Given the description of an element on the screen output the (x, y) to click on. 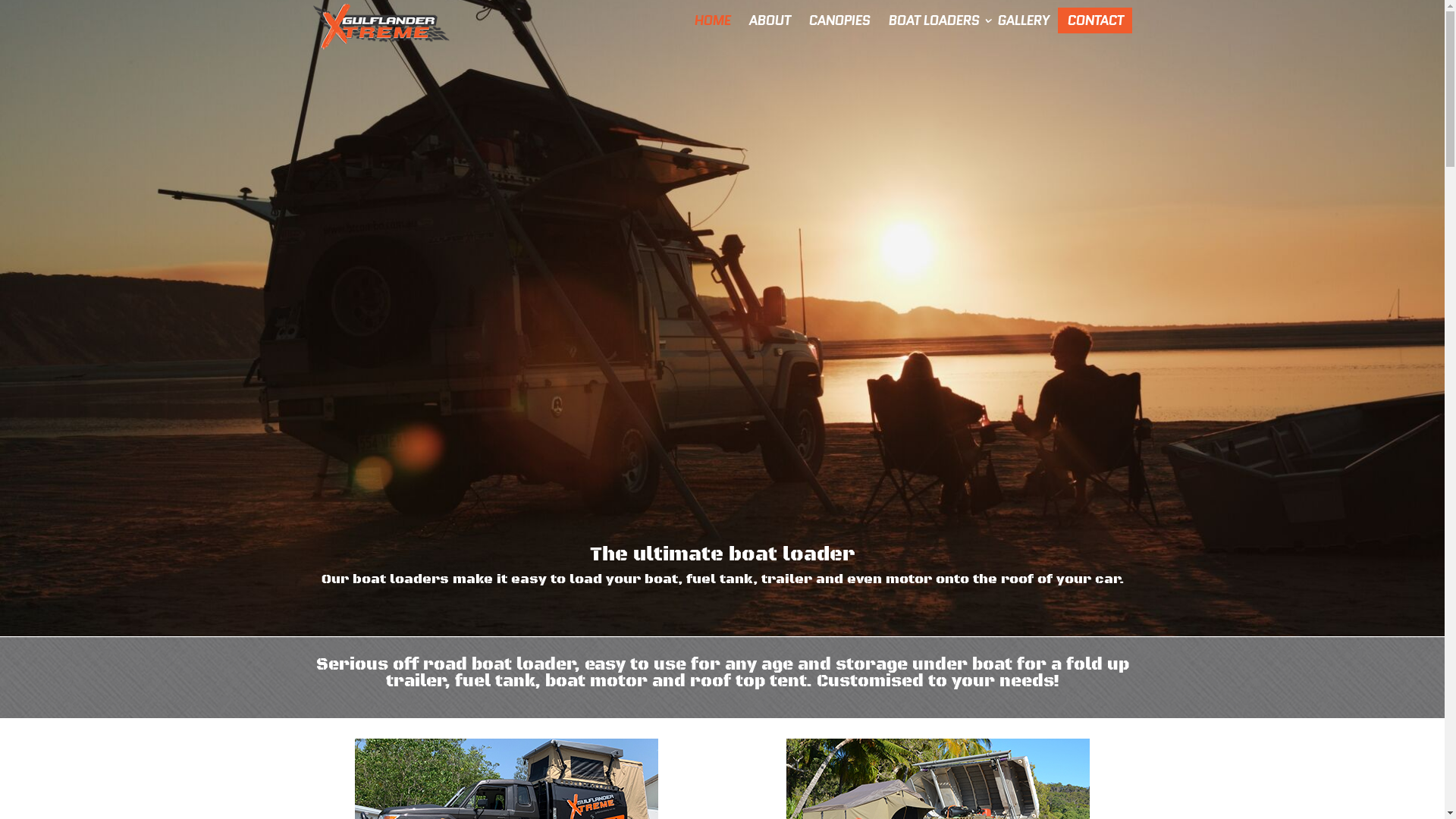
HOME Element type: text (711, 20)
BOAT LOADERS Element type: text (932, 20)
ABOUT Element type: text (768, 20)
GALLERY Element type: text (1022, 20)
CONTACT Element type: text (1094, 20)
CANOPIES Element type: text (838, 20)
